Given the description of an element on the screen output the (x, y) to click on. 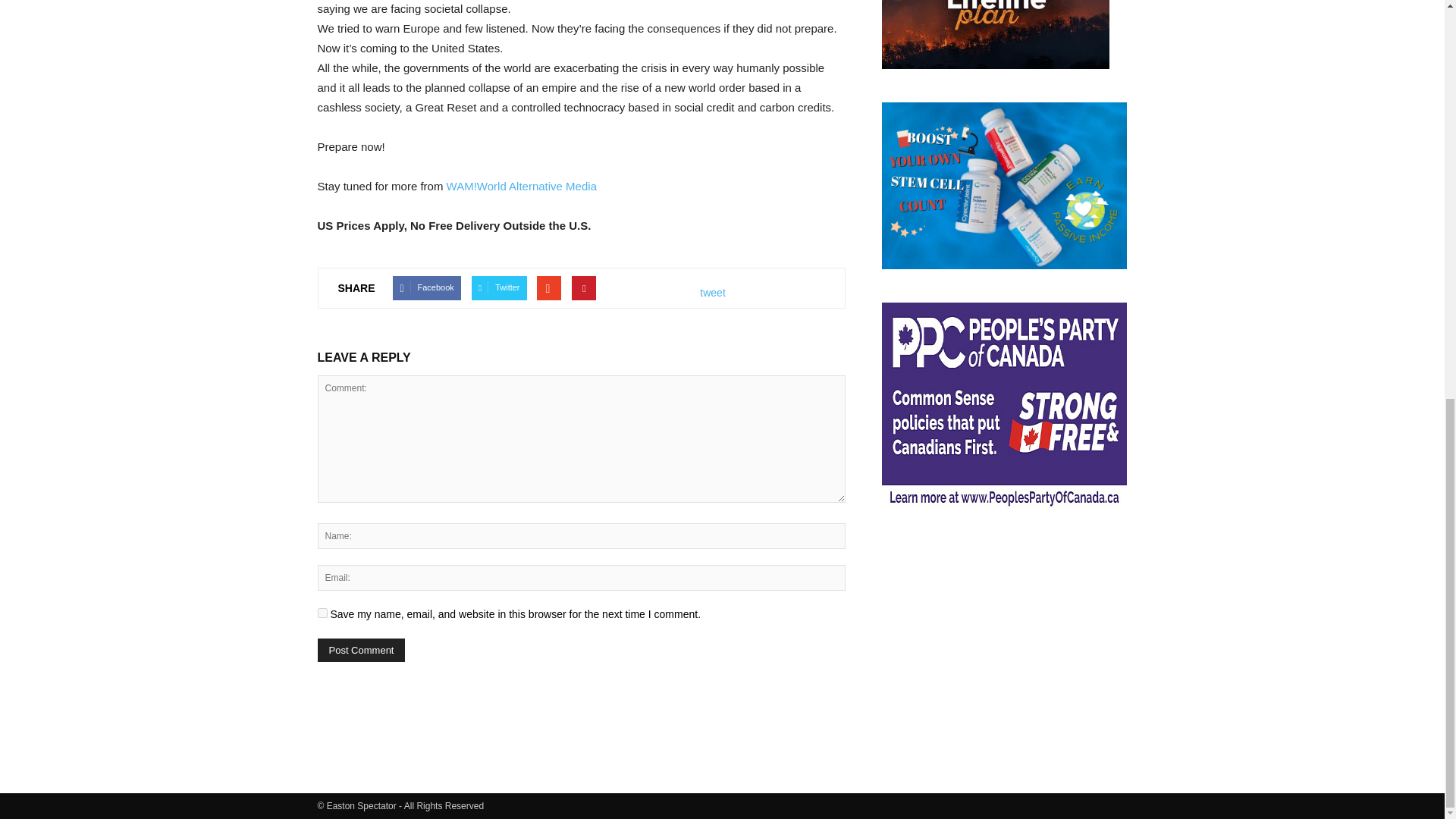
Post Comment (360, 649)
yes (321, 613)
Advertisement (1003, 634)
